Given the description of an element on the screen output the (x, y) to click on. 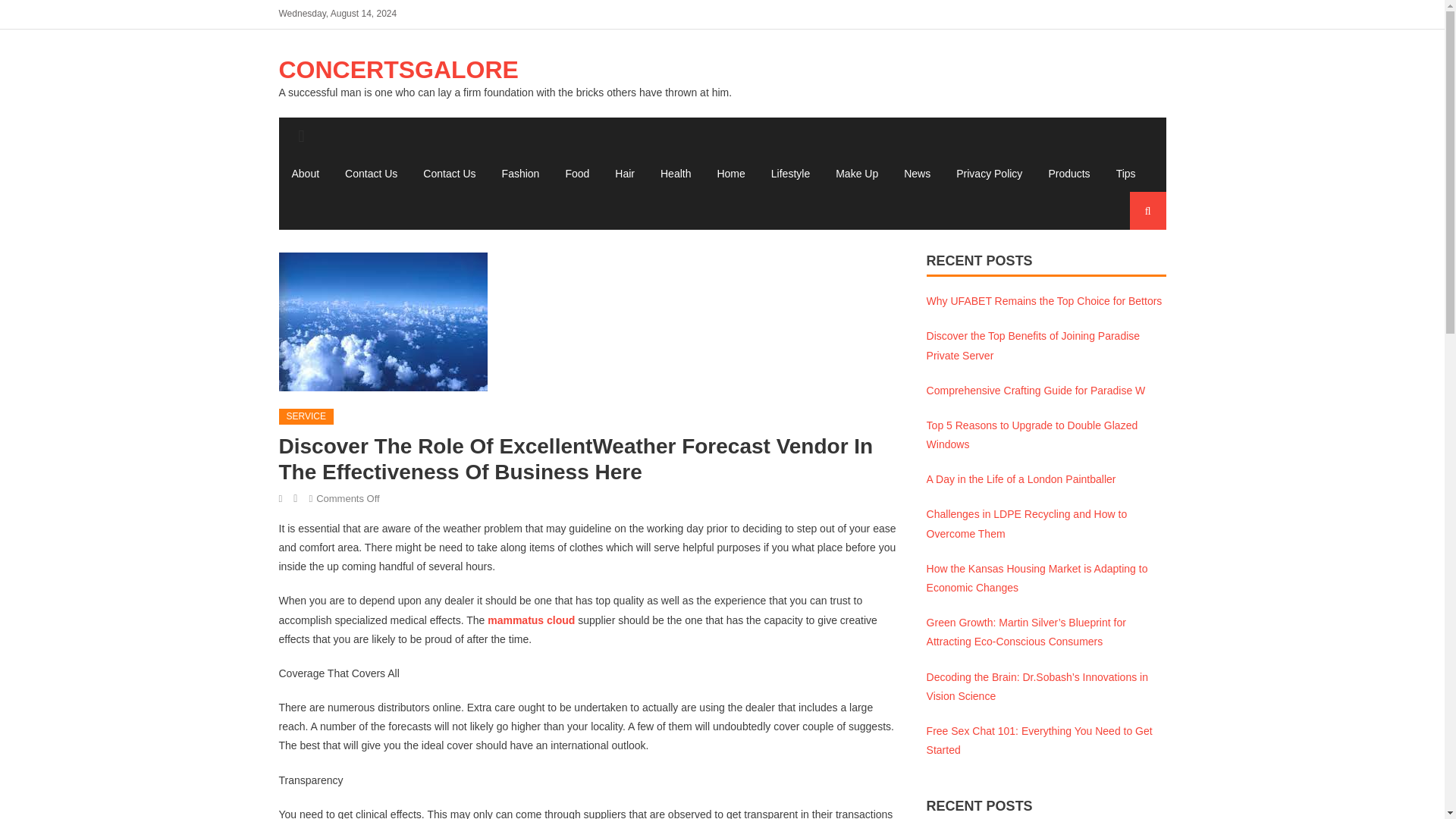
Make Up (856, 173)
Hair (625, 173)
Health (675, 173)
Home (729, 173)
Privacy Policy (988, 173)
SERVICE (306, 416)
Fashion (520, 173)
Food (576, 173)
Search (1133, 267)
Products (1068, 173)
